Given the description of an element on the screen output the (x, y) to click on. 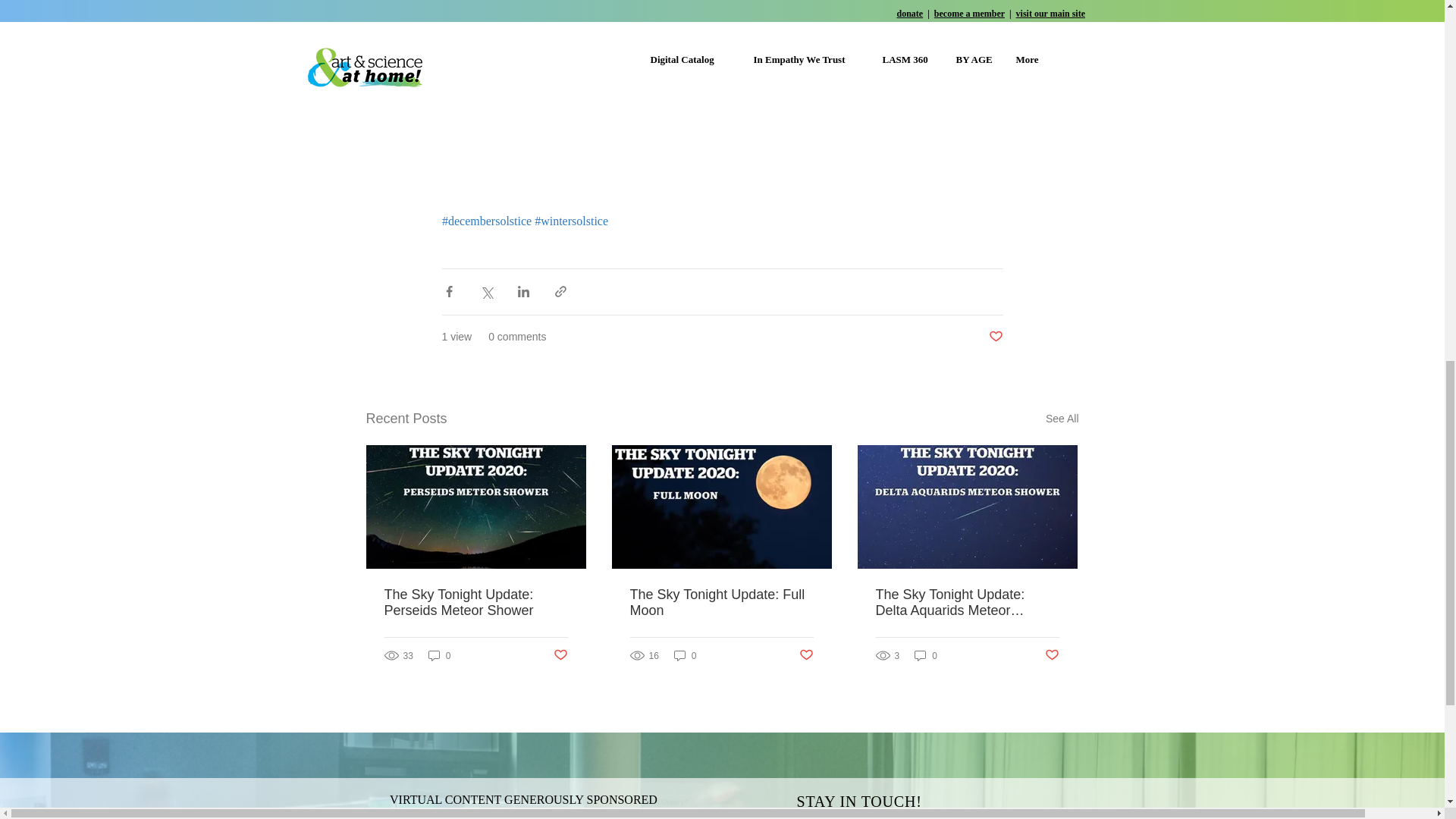
The Sky Tonight Update: Perseids Meteor Shower (475, 603)
Post not marked as liked (995, 336)
Post not marked as liked (560, 655)
0 (439, 655)
See All (1061, 418)
